Given the description of an element on the screen output the (x, y) to click on. 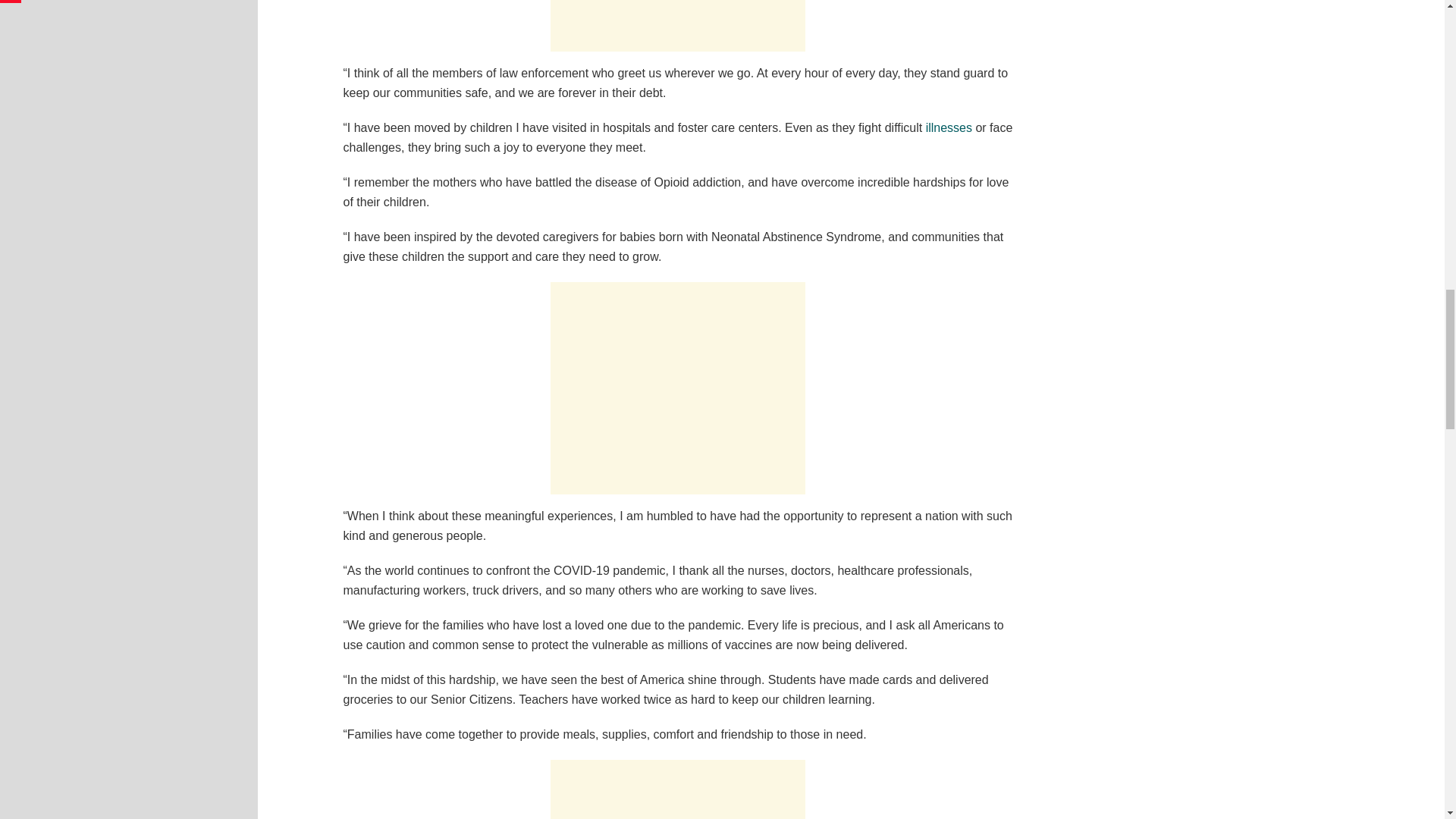
Advertisement (677, 387)
Advertisement (677, 789)
Advertisement (677, 25)
